Given the description of an element on the screen output the (x, y) to click on. 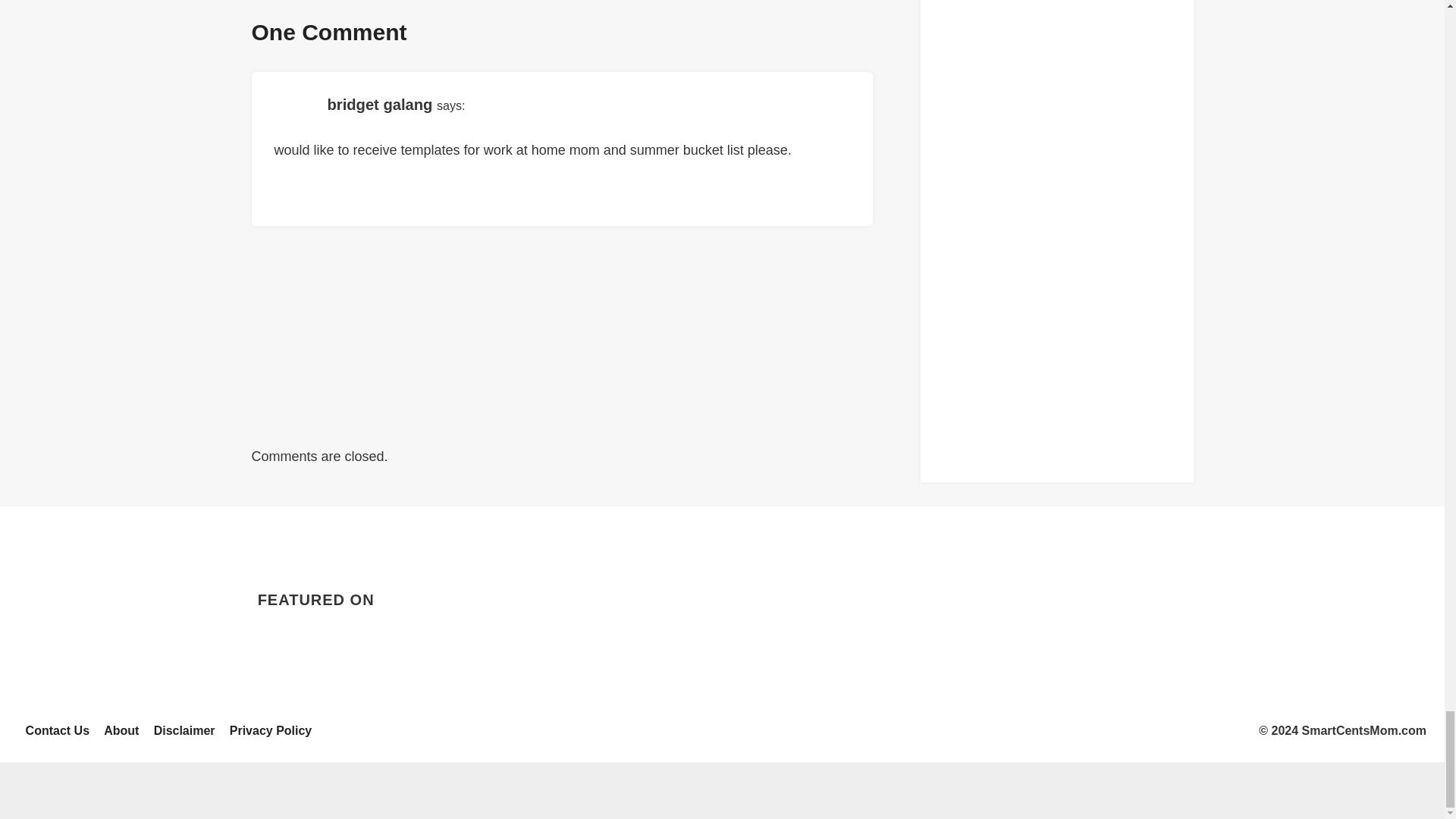
Privacy Policy (270, 731)
Contact Us (57, 731)
Disclaimer (184, 731)
About (122, 731)
